Given the description of an element on the screen output the (x, y) to click on. 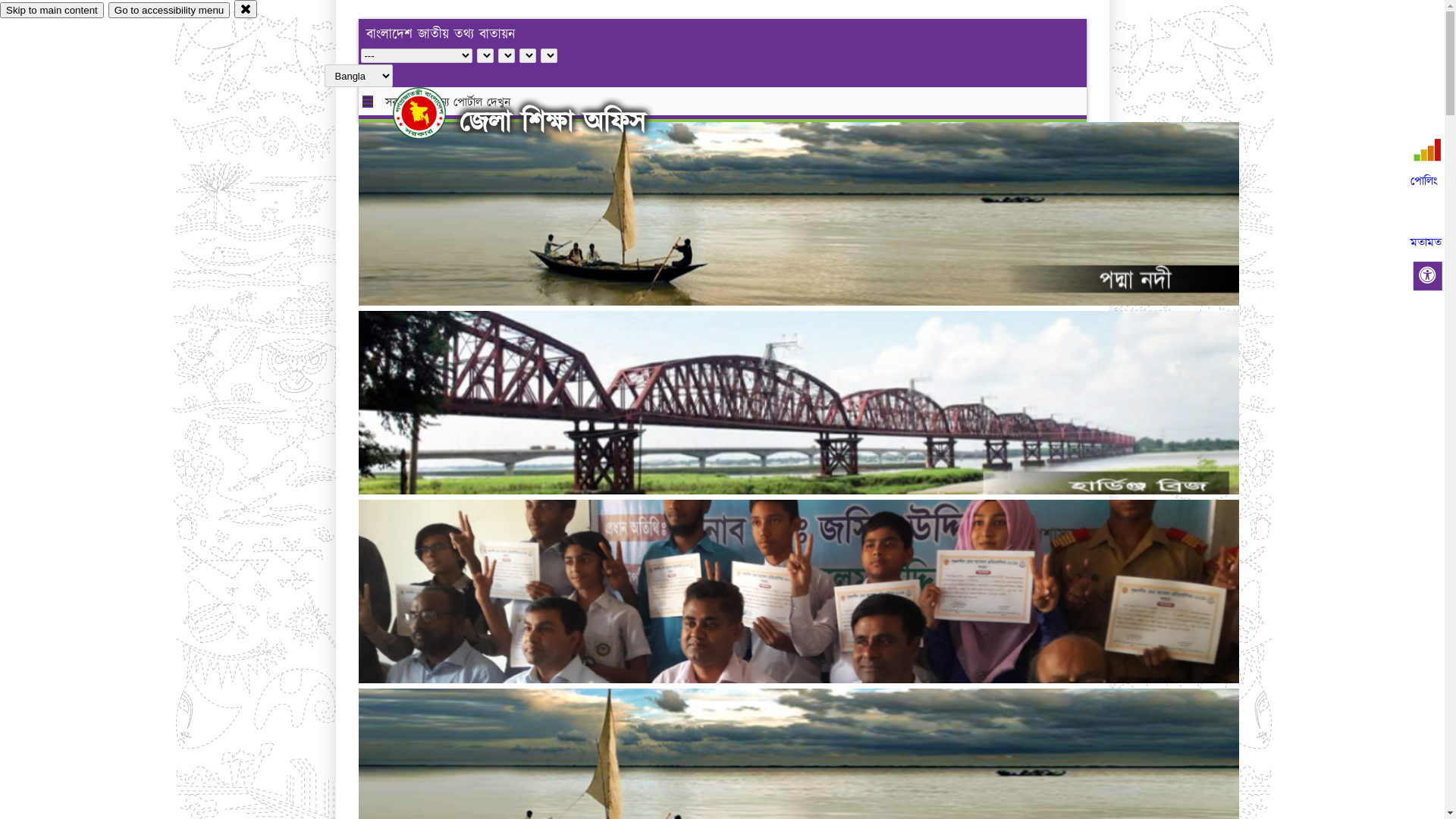

                
             Element type: hover (431, 112)
close Element type: hover (245, 9)
Skip to main content Element type: text (51, 10)
Go to accessibility menu Element type: text (168, 10)
